Given the description of an element on the screen output the (x, y) to click on. 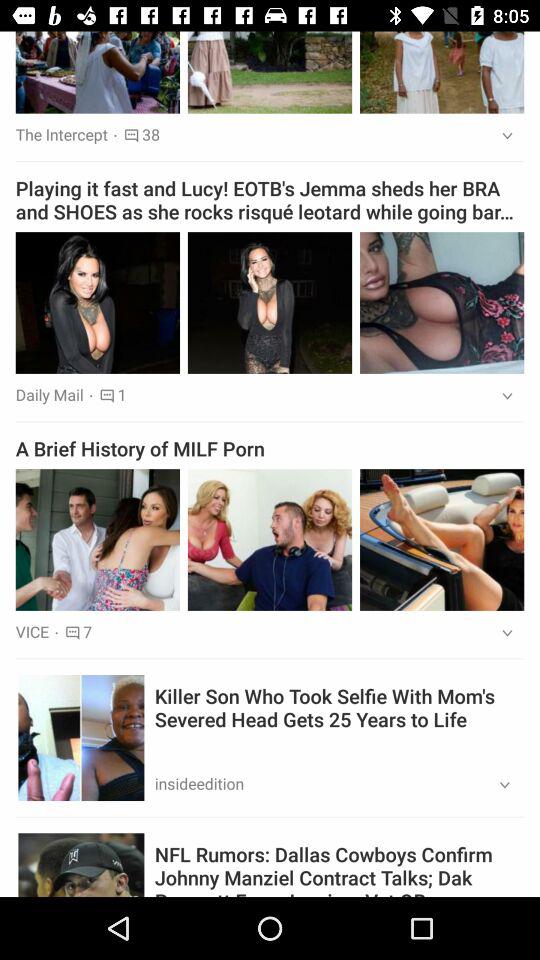
tap icon below killer son who (498, 785)
